Given the description of an element on the screen output the (x, y) to click on. 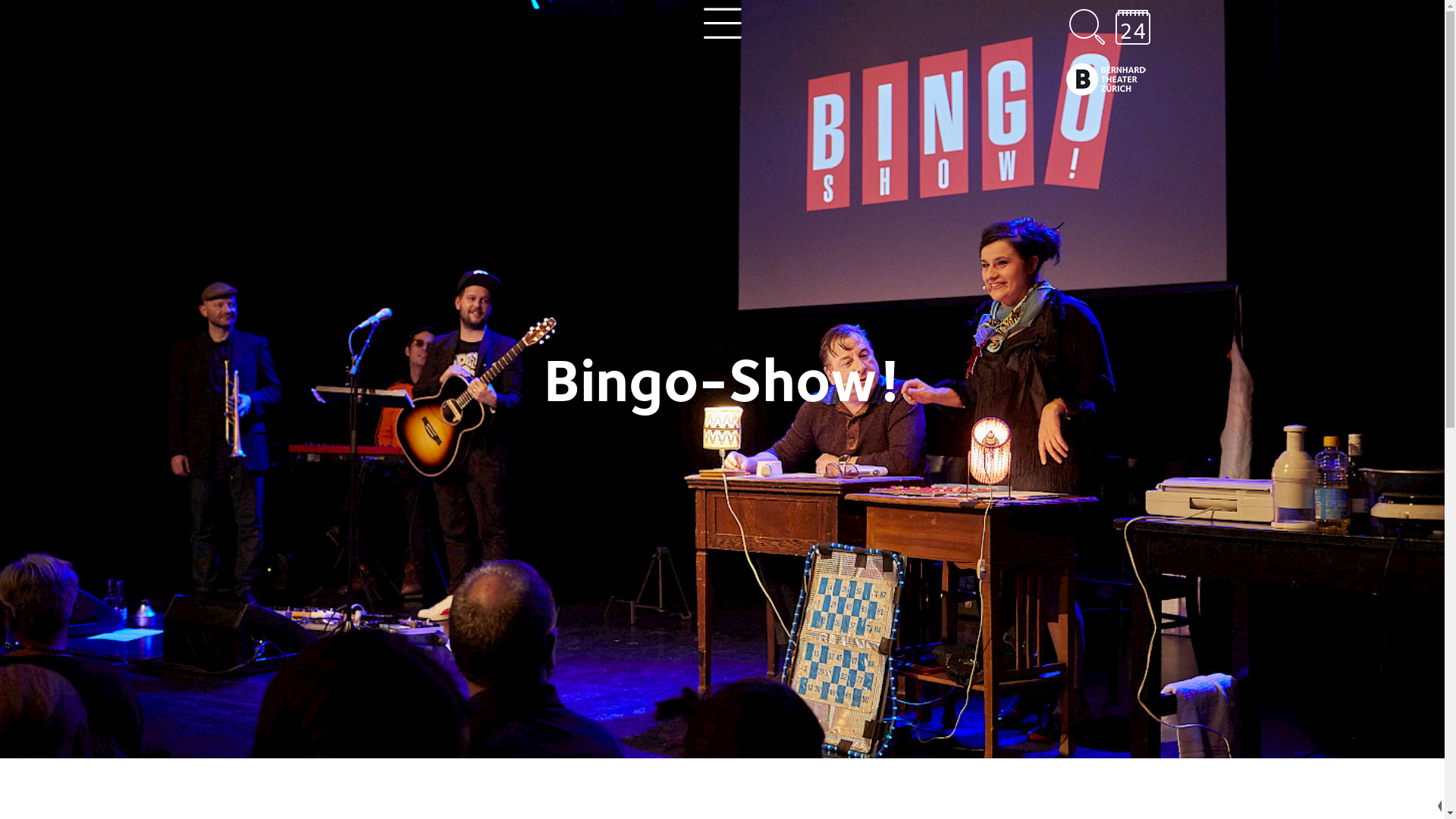
24 Element type: text (1132, 27)
Bingo. Foto:  Element type: hover (722, 379)
TERMINE Element type: text (1405, 805)
